Given the description of an element on the screen output the (x, y) to click on. 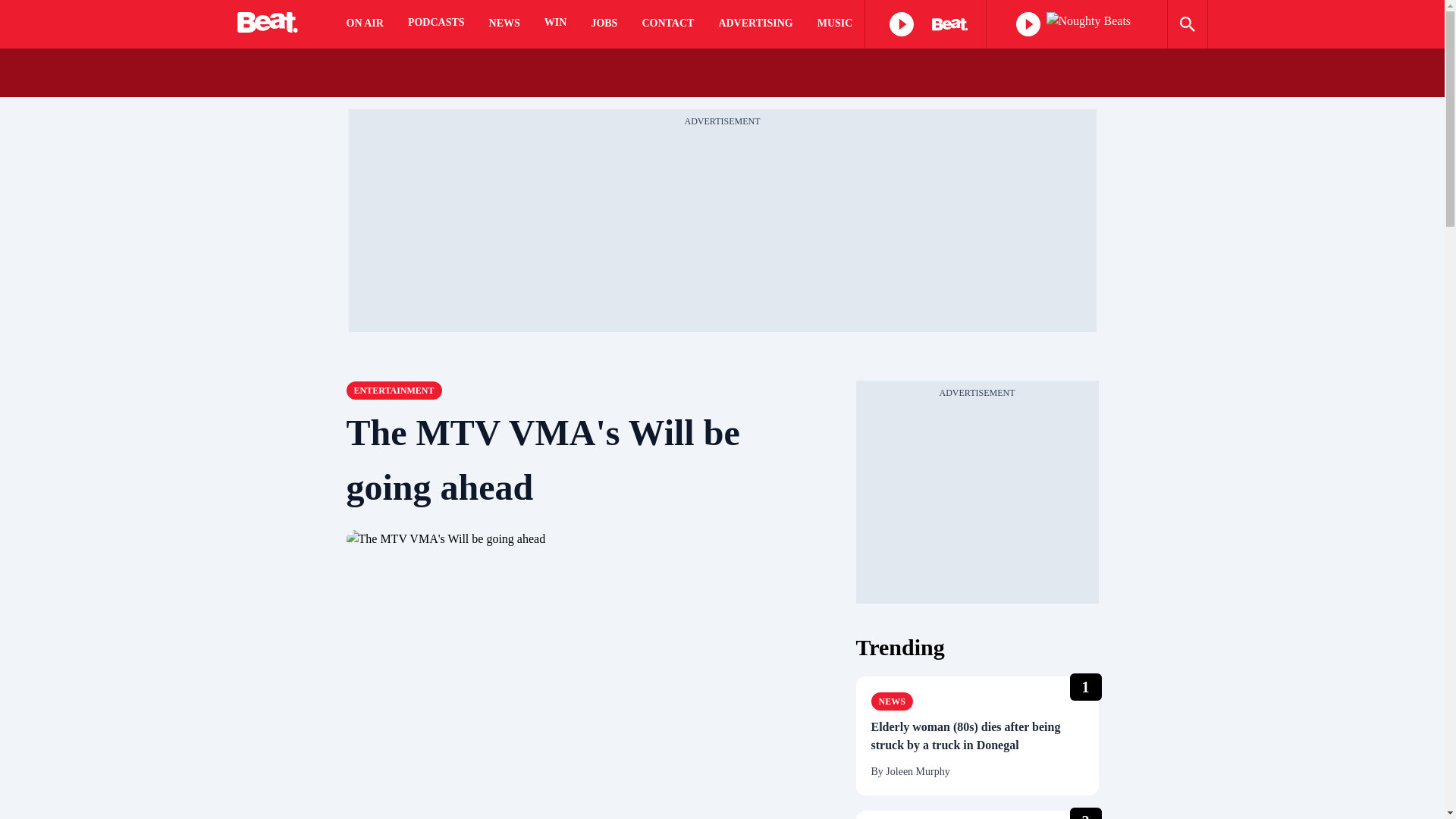
Entertainment (393, 390)
PODCASTS (435, 24)
News (891, 701)
